Given the description of an element on the screen output the (x, y) to click on. 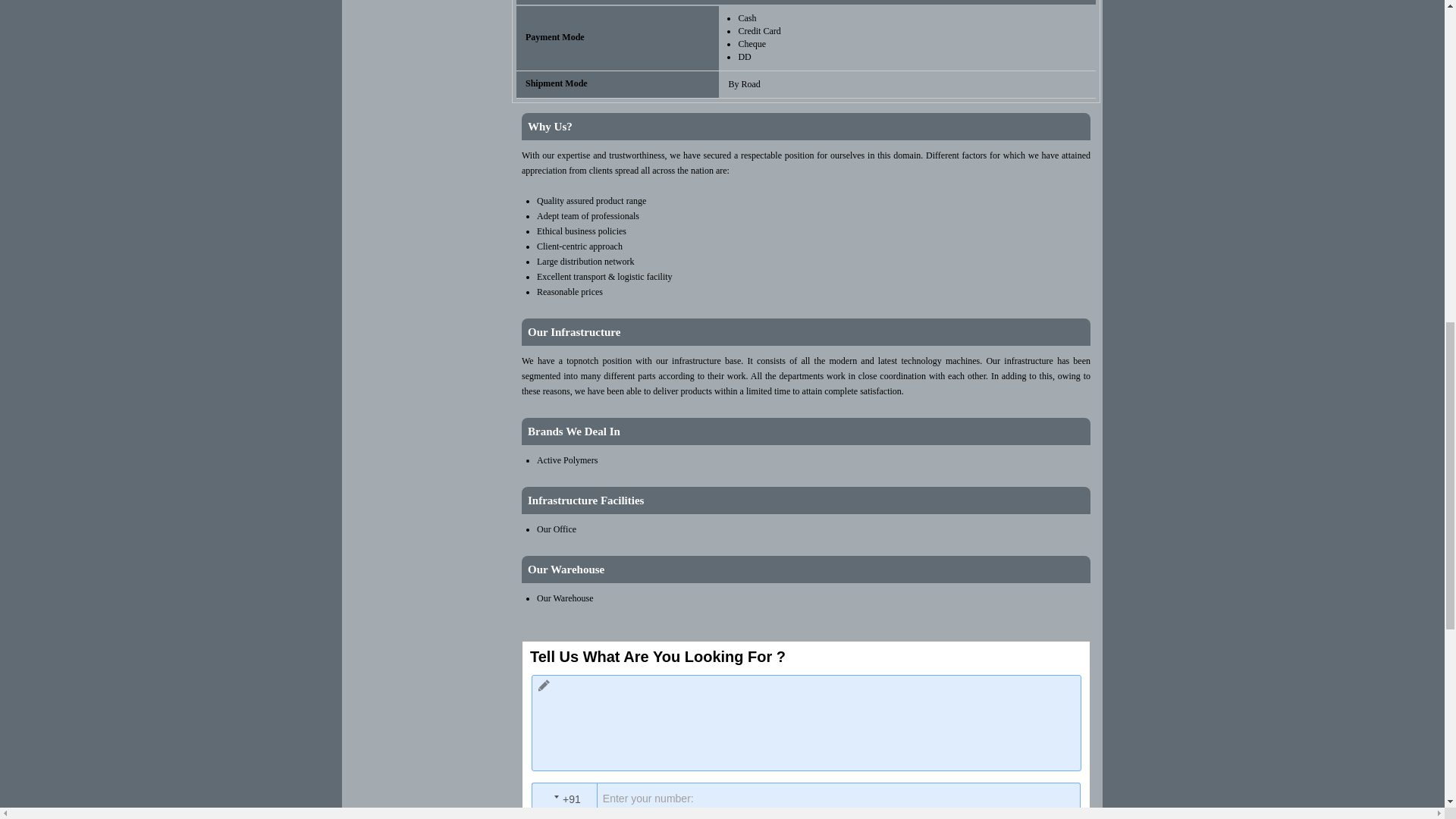
Enter your number: (810, 798)
